Given the description of an element on the screen output the (x, y) to click on. 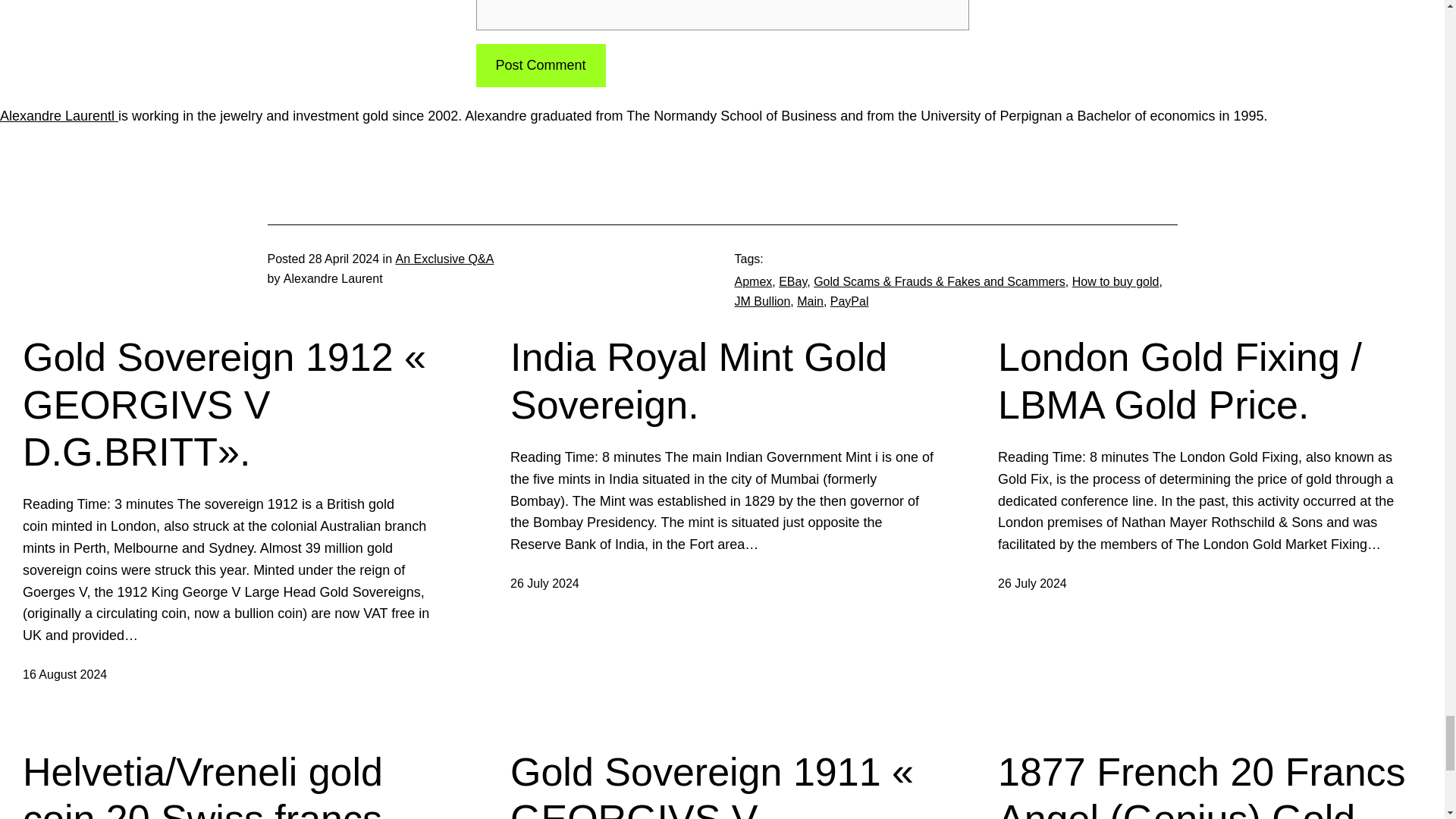
Alexandre Laurentl (58, 115)
Post Comment (540, 65)
Post Comment (540, 65)
